Given the description of an element on the screen output the (x, y) to click on. 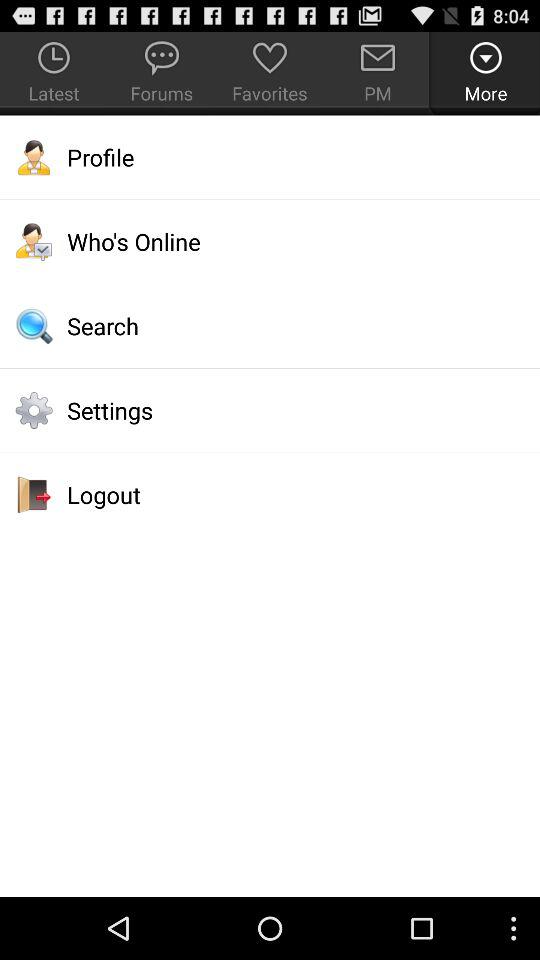
choose the item below the   profile (270, 241)
